Given the description of an element on the screen output the (x, y) to click on. 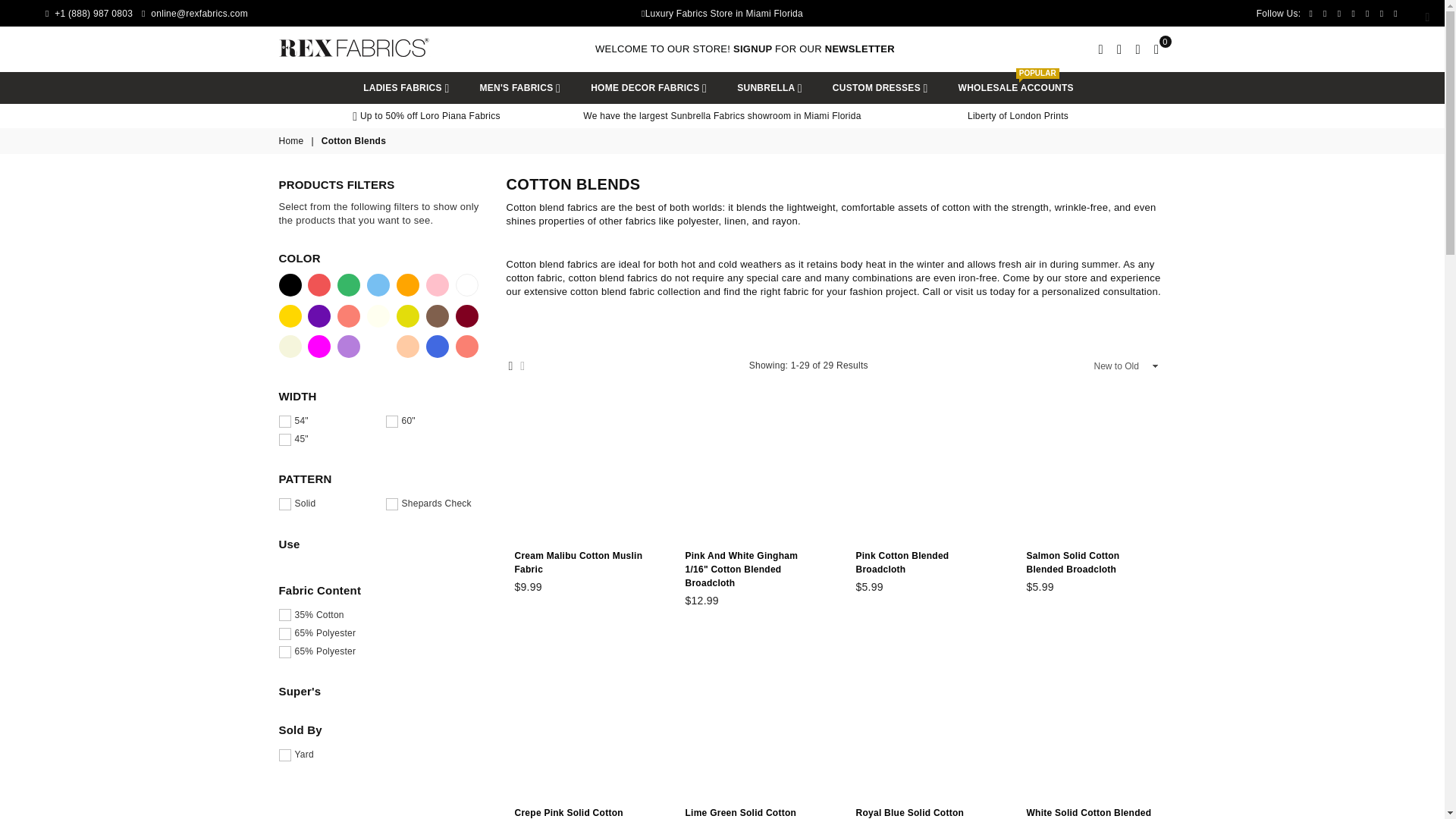
Rex Fabrics on Facebook (1310, 13)
Rex Fabrics on Pinterest (1339, 13)
Vimeo (1396, 13)
SIGNUP (753, 48)
Instagram (1352, 13)
REX FABRICS (354, 46)
Rex Fabrics on Tumblr (1366, 13)
Tumblr (1366, 13)
LADIES FABRICS (406, 87)
Facebook (1310, 13)
